Given the description of an element on the screen output the (x, y) to click on. 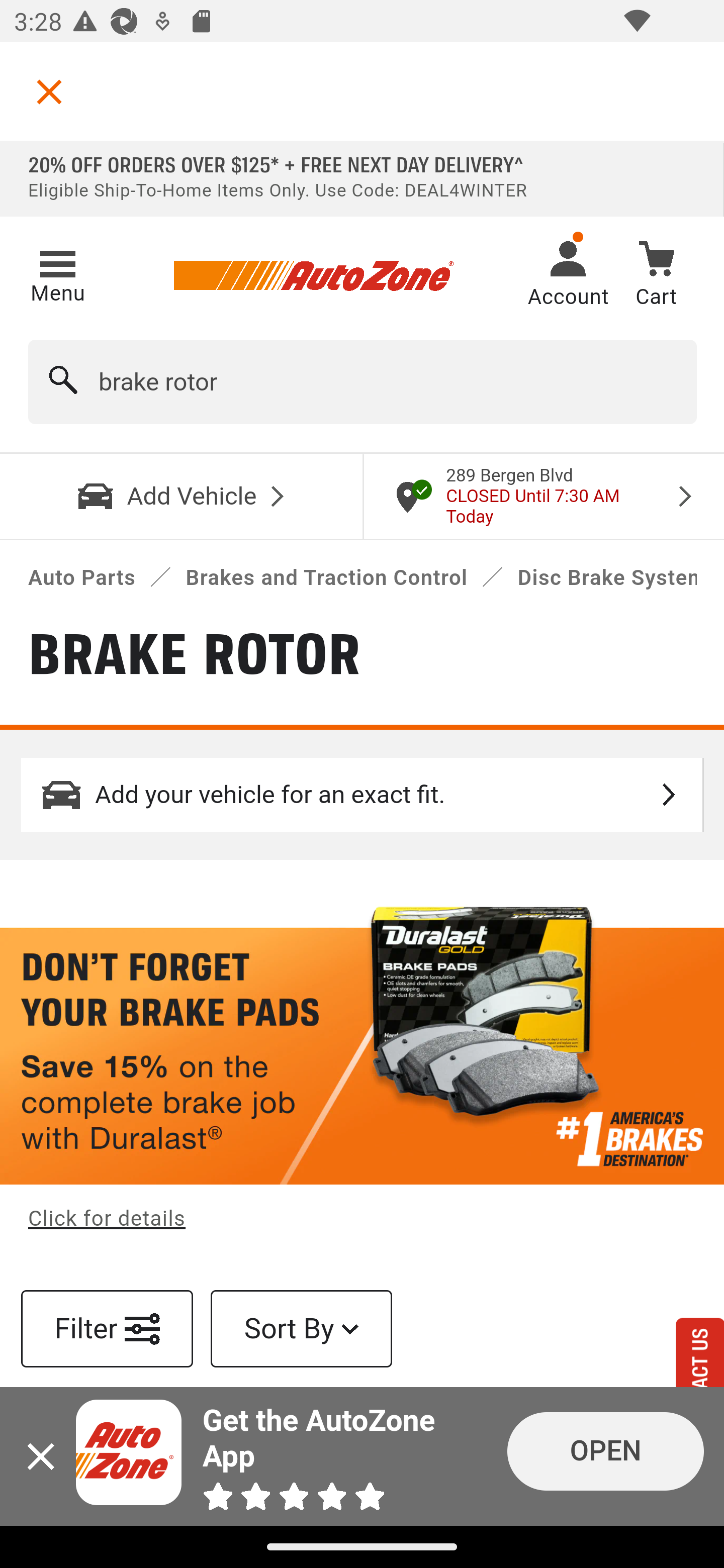
 (49, 91)
Menu (57, 273)
Account (567, 276)
AutoZone Logo (links to homepage) (312, 276)
shopping cart 0 items (655, 277)
Search (63, 382)
brake rotor (363, 382)
Add Vehicle (182, 495)
Auto Parts (82, 577)
Brakes and Traction Control (326, 577)
Disc Brake System (607, 577)
Add your vehicle for an exact fit. (362, 793)
Click for details (107, 1220)
Filter (107, 1328)
Sort By (301, 1328)
Close icon Get the AutoZone App OPEN (362, 1456)
